Given the description of an element on the screen output the (x, y) to click on. 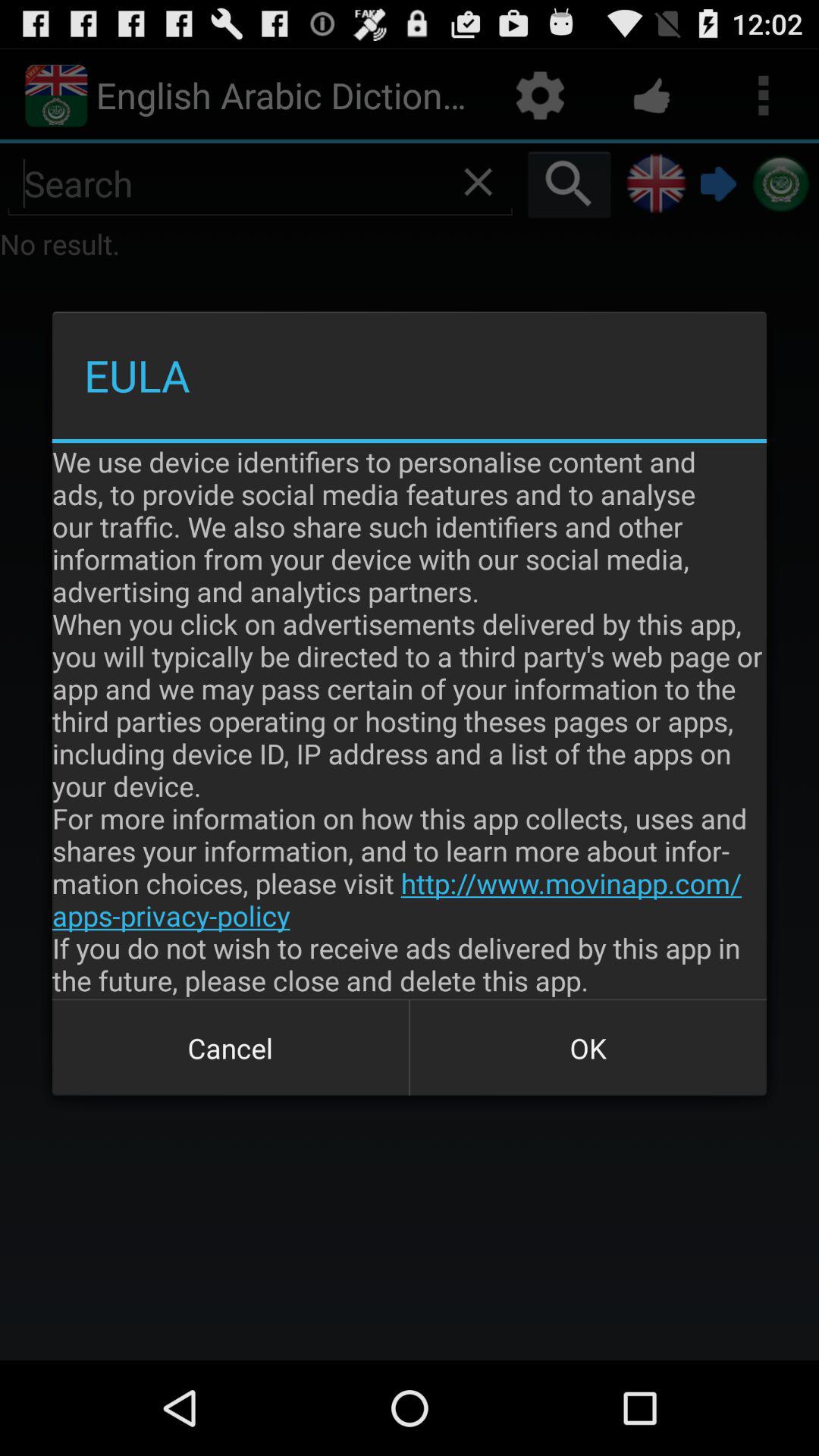
launch the icon below the we use device item (588, 1047)
